Given the description of an element on the screen output the (x, y) to click on. 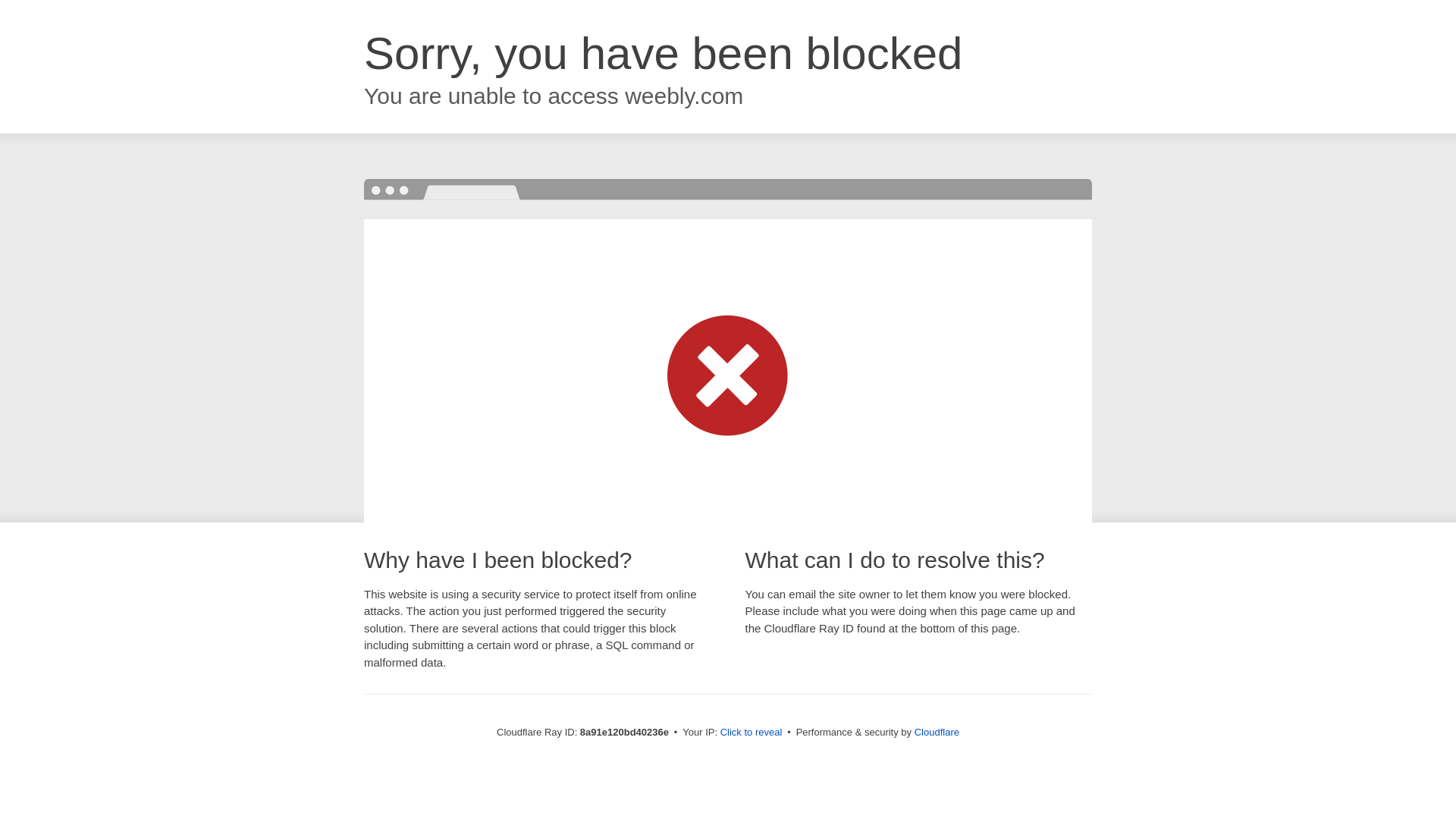
Cloudflare (936, 731)
Click to reveal (751, 732)
